Given the description of an element on the screen output the (x, y) to click on. 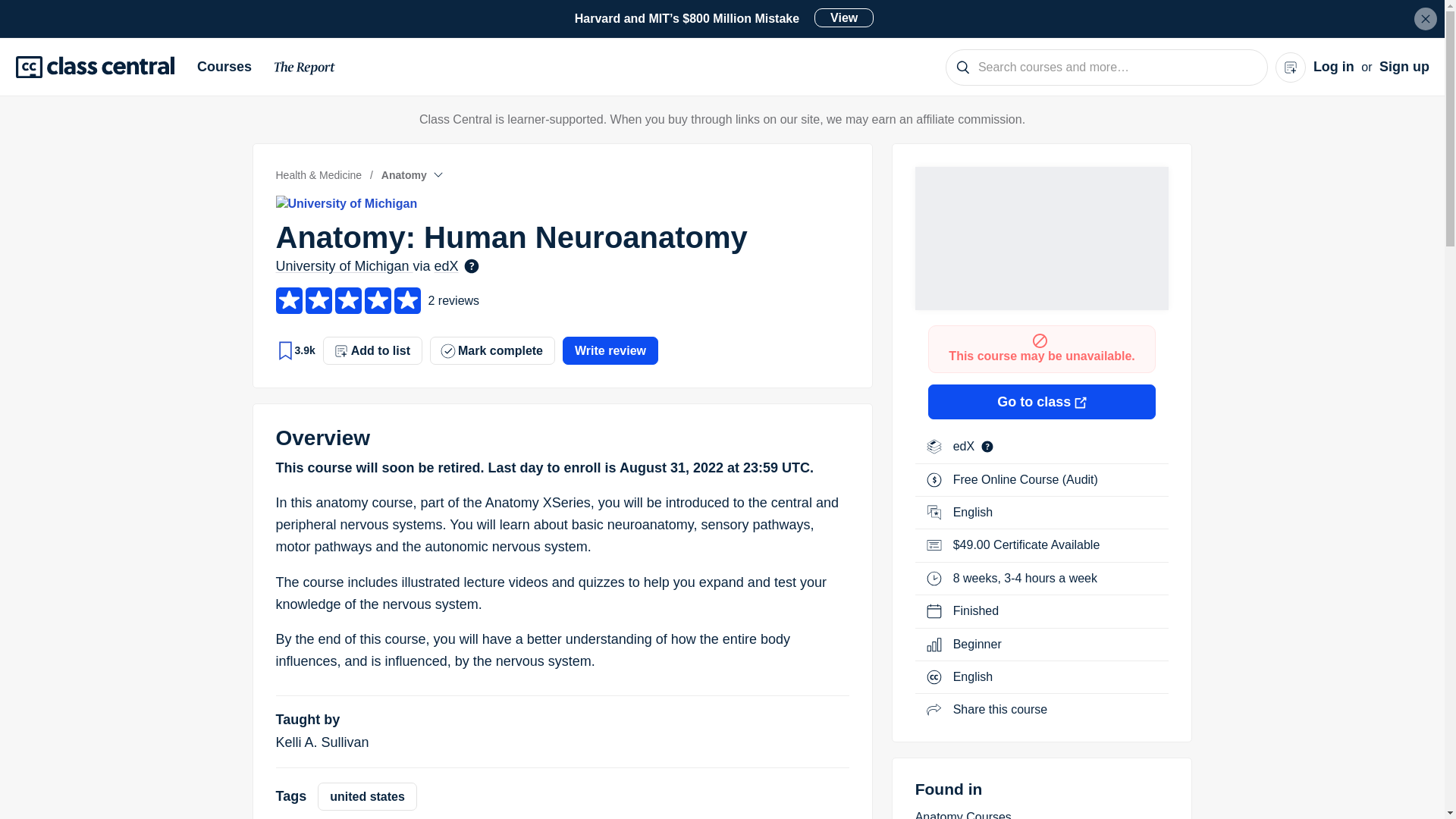
Courses (229, 66)
List of edX MOOCs (965, 445)
Close (1425, 18)
The Report (304, 69)
